Given the description of an element on the screen output the (x, y) to click on. 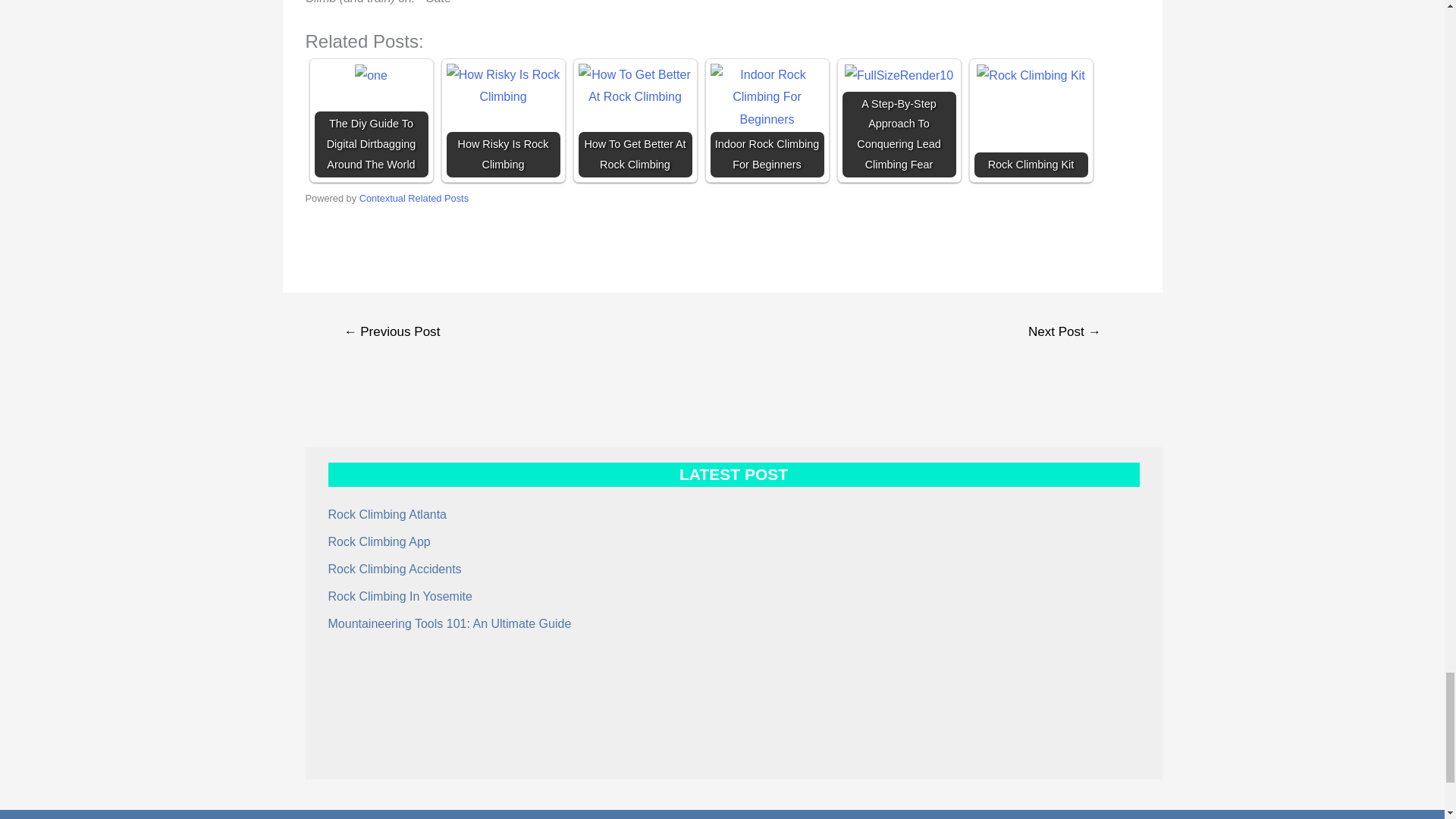
The Diy Guide To Digital Dirtbagging Around The World (371, 120)
How Risky Is Rock Climbing (502, 85)
The Diy Guide To Digital Dirtbagging Around The World (371, 74)
